Given the description of an element on the screen output the (x, y) to click on. 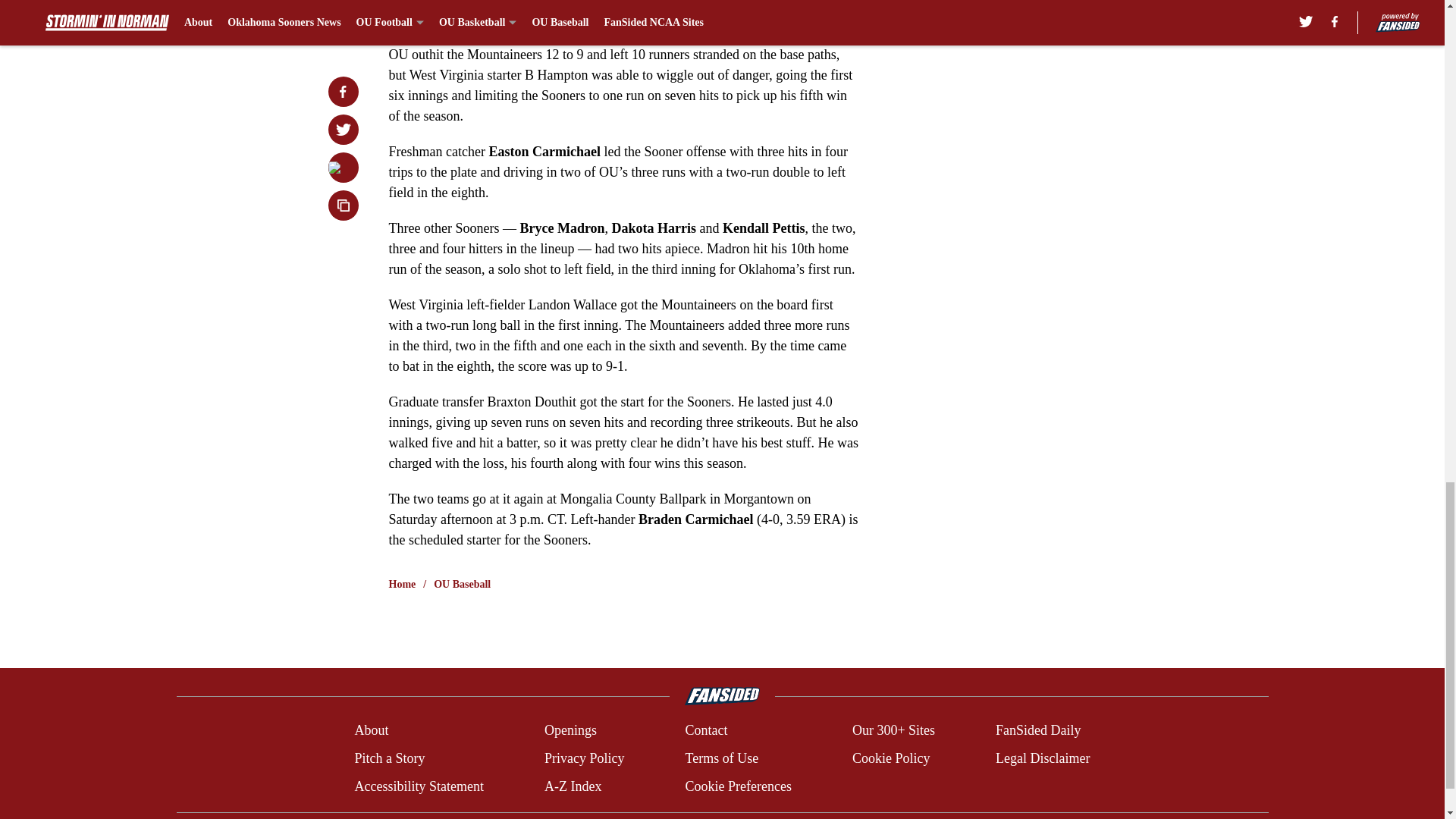
Cookie Preferences (737, 786)
OU Baseball (461, 584)
Accessibility Statement (418, 786)
FanSided Daily (1038, 730)
Terms of Use (721, 758)
Cookie Policy (890, 758)
Home (401, 584)
Legal Disclaimer (1042, 758)
Pitch a Story (389, 758)
About (370, 730)
